Given the description of an element on the screen output the (x, y) to click on. 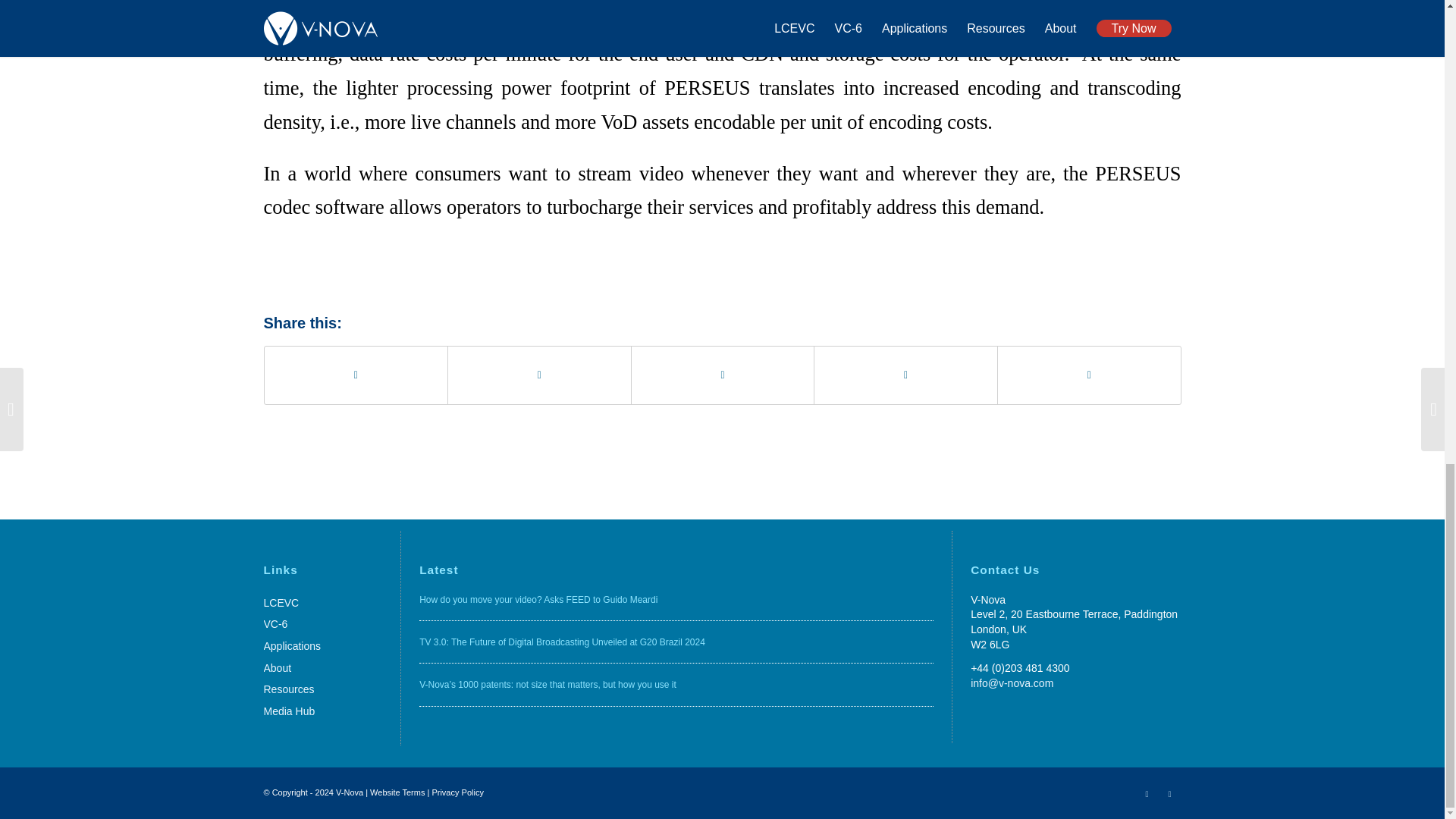
Resources (322, 690)
VC-6 (322, 625)
Read: How do you move your video? Asks FEED to Guido Meardi (538, 599)
LCEVC (322, 603)
Applications (322, 647)
About (322, 669)
